Given the description of an element on the screen output the (x, y) to click on. 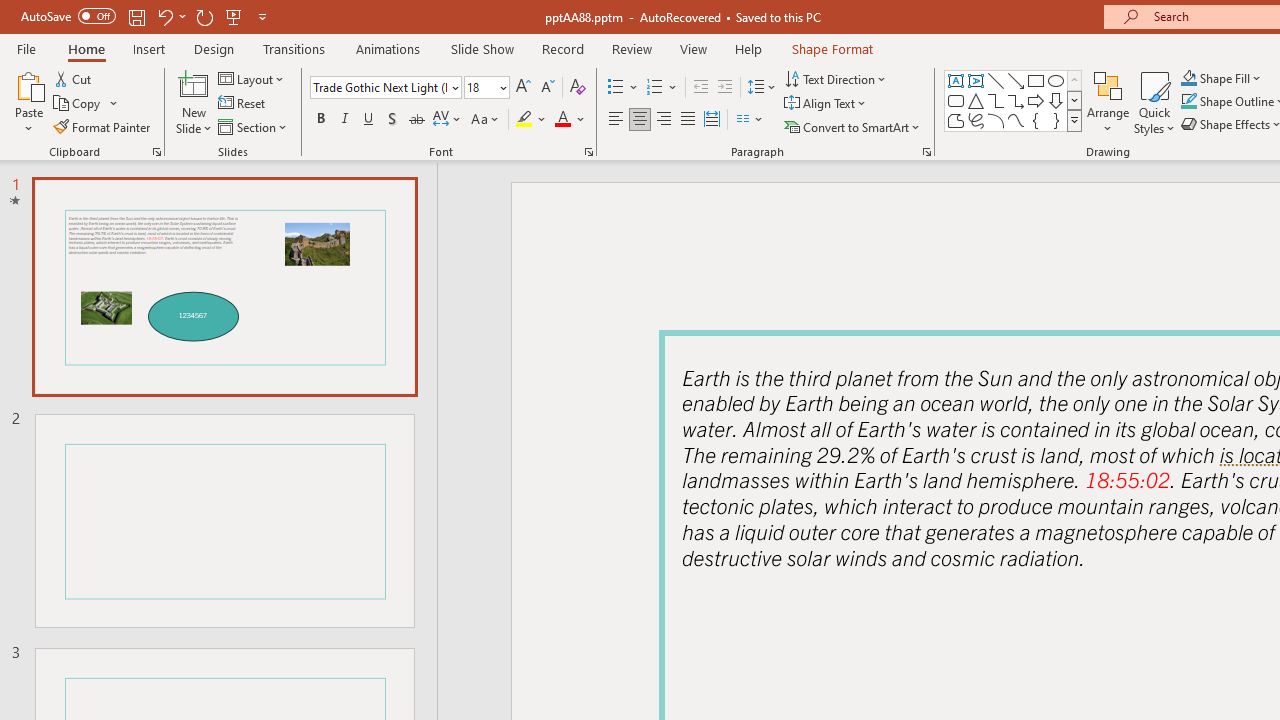
Shape Fill Aqua, Accent 2 (1188, 78)
